Given the description of an element on the screen output the (x, y) to click on. 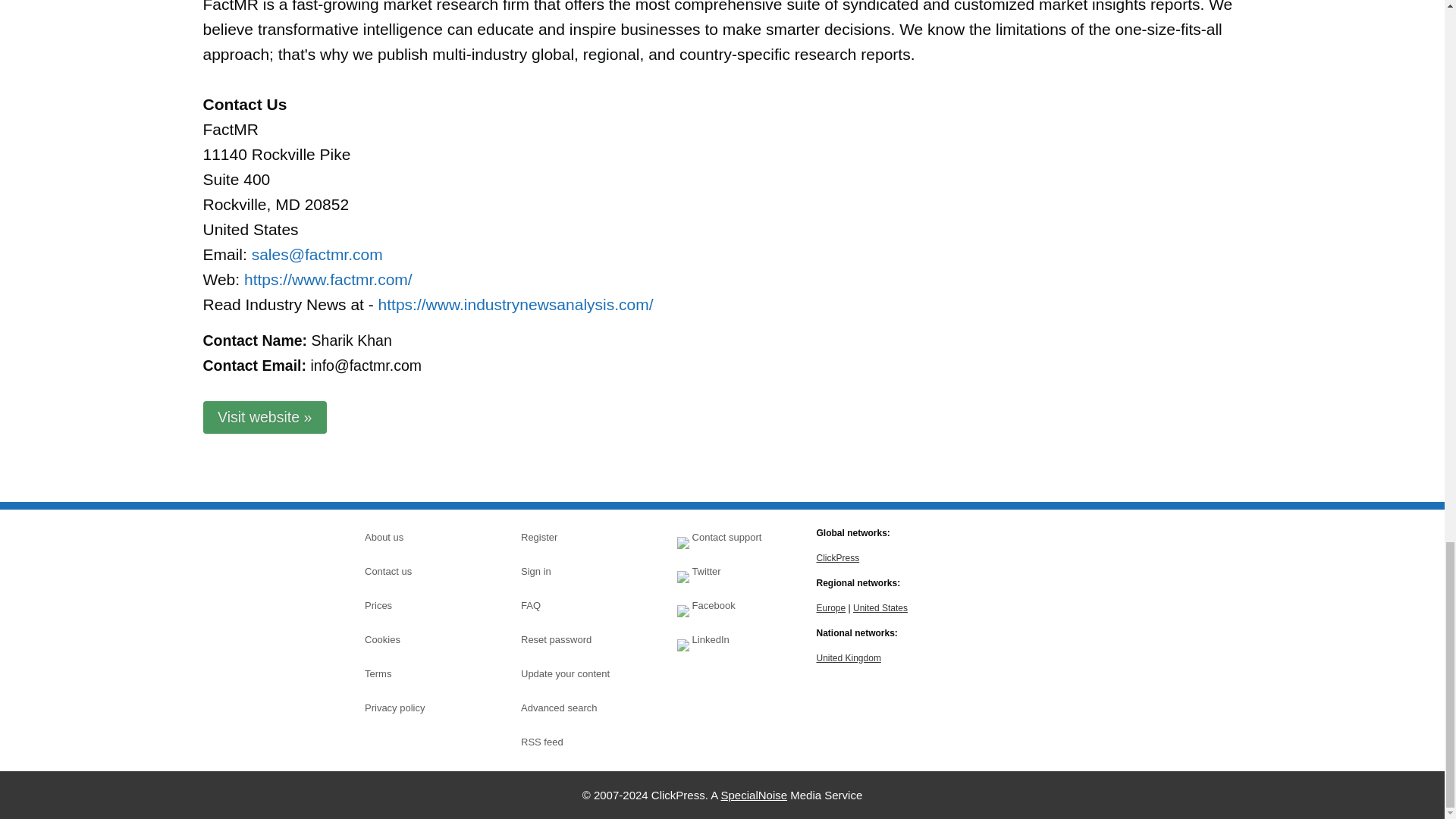
Reset password (574, 639)
Advanced search (574, 707)
Twitter (730, 571)
Sign in (574, 571)
Privacy policy (417, 707)
RSS feed (574, 742)
About us (417, 537)
Cookies (417, 639)
Europe (830, 606)
FAQ (574, 605)
